Given the description of an element on the screen output the (x, y) to click on. 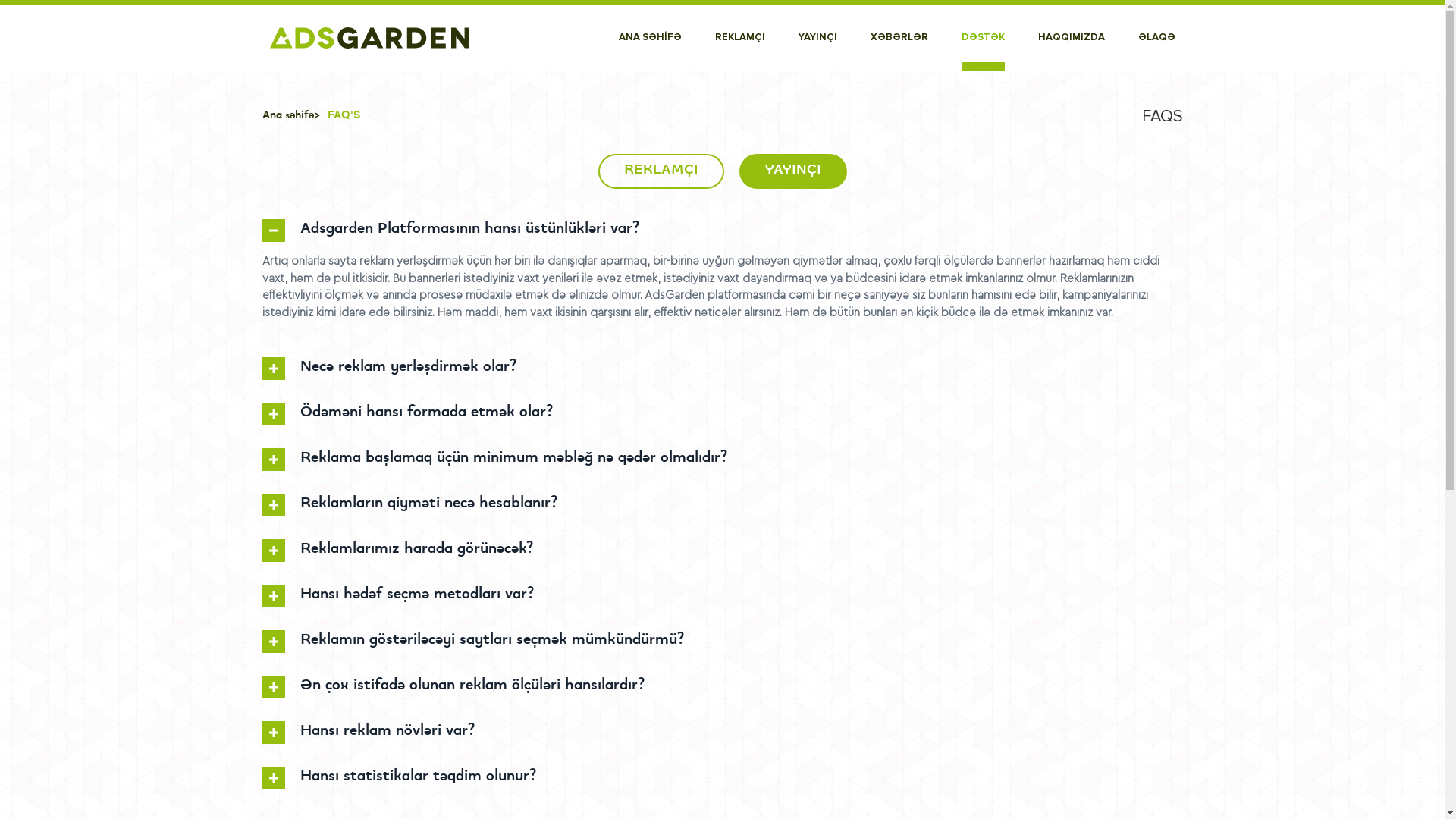
HAQQIMIZDA Element type: text (1070, 37)
